Given the description of an element on the screen output the (x, y) to click on. 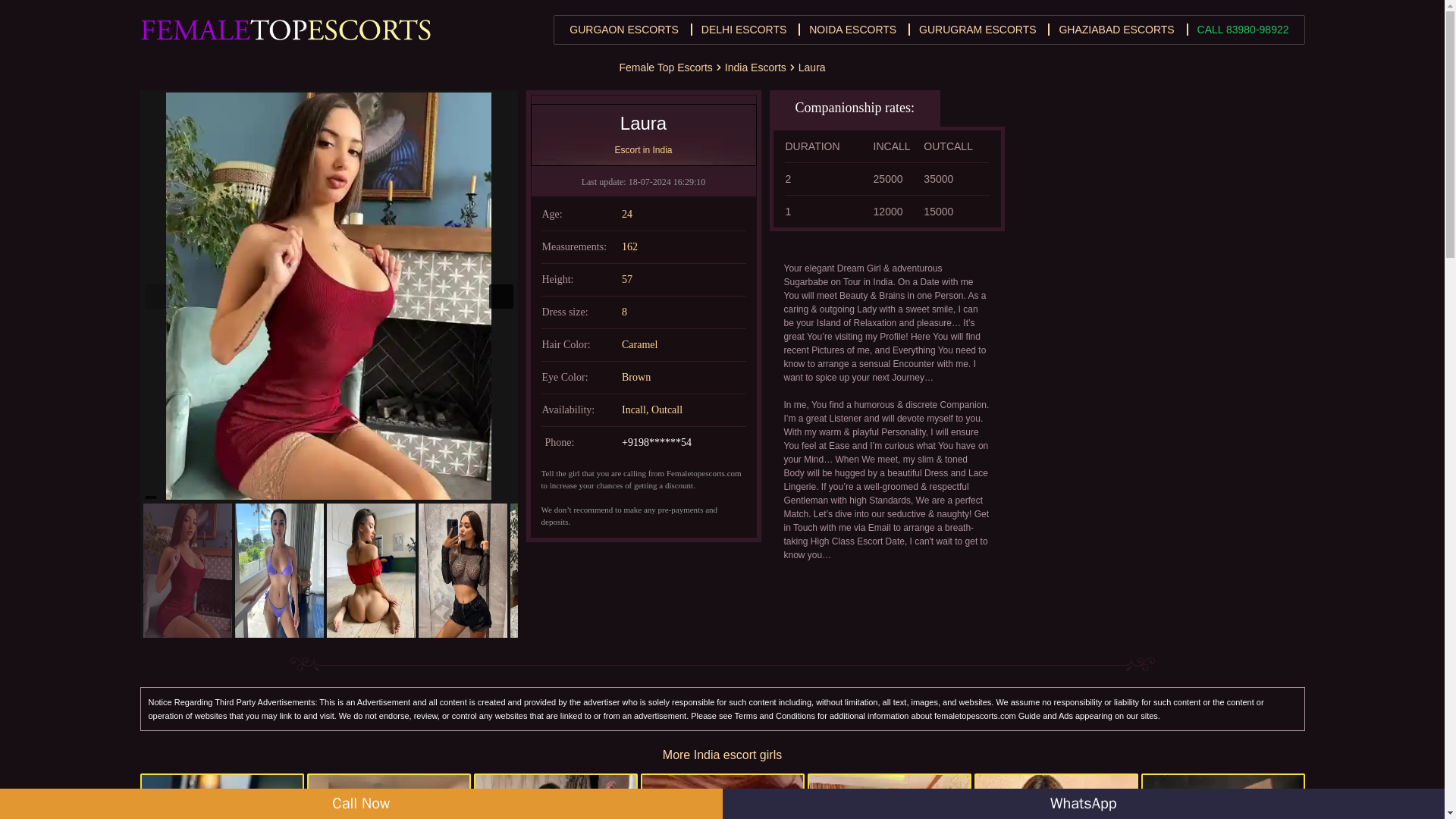
CALL 83980-98922 (1242, 29)
GHAZIABAD ESCORTS (1115, 29)
Call Now (361, 803)
NOIDA ESCORTS (852, 29)
India Escorts (755, 67)
Female Top Escorts (664, 67)
GURUGRAM ESCORTS (977, 29)
GURGAON ESCORTS (623, 29)
Laura (811, 67)
DELHI ESCORTS (744, 29)
